Given the description of an element on the screen output the (x, y) to click on. 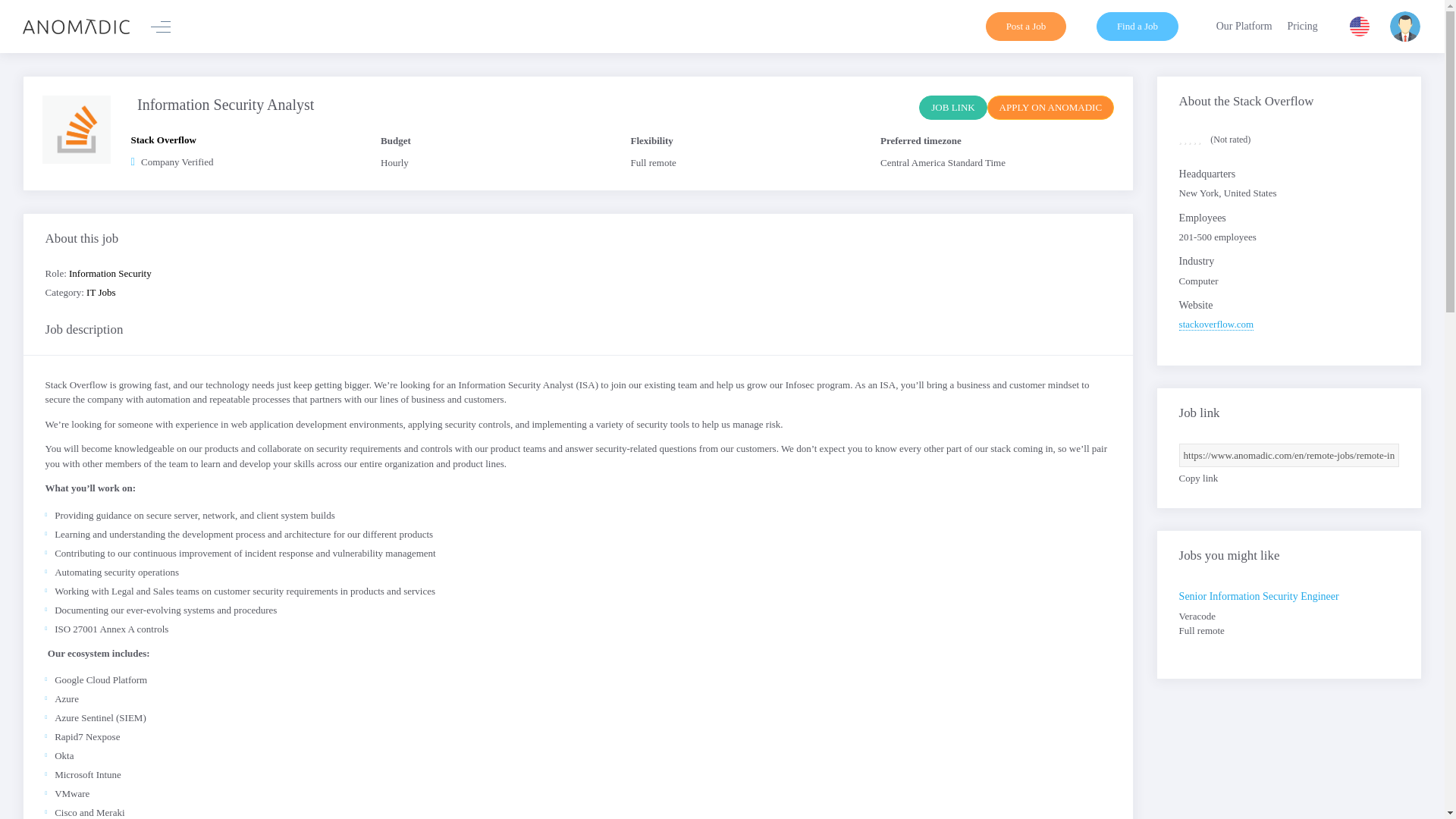
stackoverflow.com (1216, 324)
Post a job (1026, 26)
Senior Information Security Engineer (1259, 595)
JOB LINK (952, 107)
Post a Job (1026, 26)
APPLY ON ANOMADIC (1050, 107)
Stack Overflow (251, 143)
Find a Job (1136, 26)
Find a Job (1136, 26)
Our Platform (1243, 26)
Our platform (1243, 26)
Copy link (1198, 478)
